Given the description of an element on the screen output the (x, y) to click on. 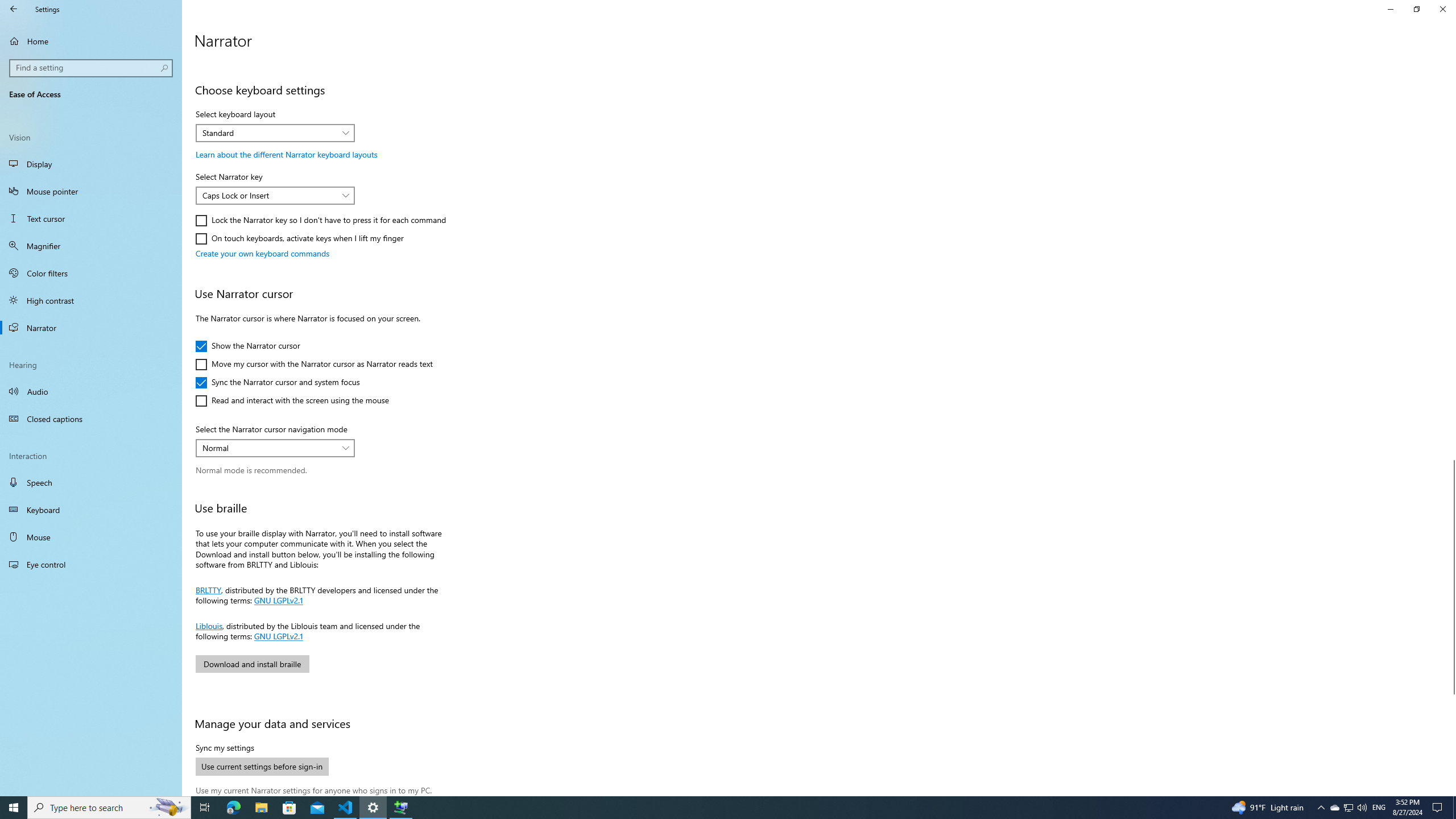
Standard (269, 132)
Type here to search (108, 807)
Close Settings (1442, 9)
Restore Settings (1416, 9)
Vertical Small Increase (1451, 791)
Learn about the different Narrator keyboard layouts (286, 154)
Sync the Narrator cursor and system focus (277, 382)
Magnifier (1333, 807)
Vertical (91, 245)
Narrator (1451, 425)
Normal (91, 327)
Show desktop (269, 447)
Settings - 1 running window (1454, 807)
